Given the description of an element on the screen output the (x, y) to click on. 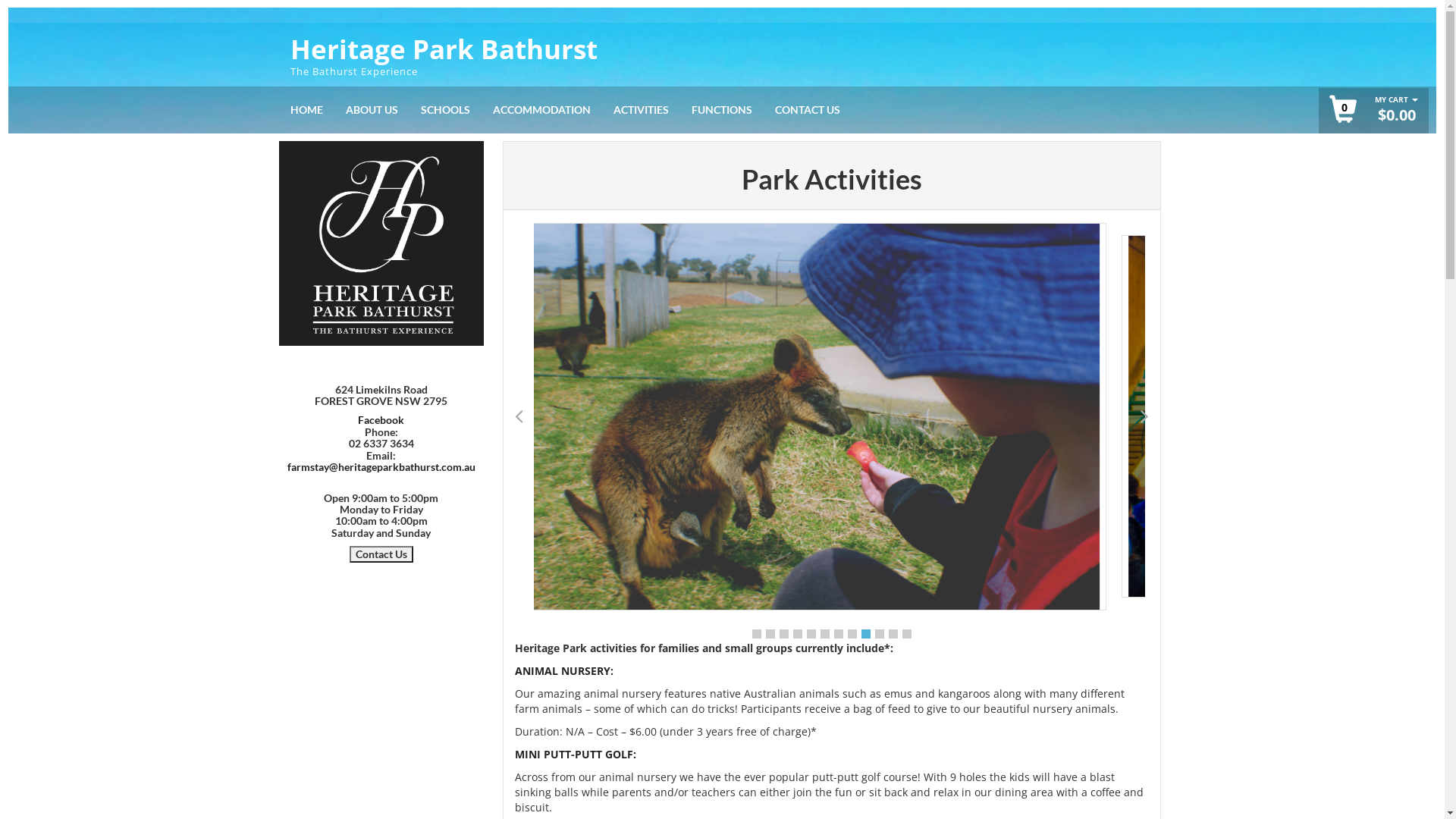
5 Element type: text (810, 633)
ANIMAL NURSERY Element type: text (561, 670)
8 Element type: text (851, 633)
3 Element type: text (783, 633)
12 Element type: text (906, 633)
HOME Element type: text (306, 109)
Heritage Park Bathurst
The Bathurst Experience Element type: text (463, 54)
1 Element type: text (756, 633)
6 Element type: text (824, 633)
CONTACT US Element type: text (806, 109)
Contact Us Element type: text (380, 553)
2 Element type: text (770, 633)
FUNCTIONS Element type: text (720, 109)
9 Element type: text (865, 633)
10 Element type: text (879, 633)
Facebook Element type: text (380, 419)
11 Element type: text (892, 633)
ACTIVITIES Element type: text (641, 109)
SCHOOLS Element type: text (445, 109)
ACCOMMODATION Element type: text (540, 109)
4 Element type: text (797, 633)
7 Element type: text (838, 633)
farmstay@heritageparkbathurst.com.au Element type: text (380, 466)
ABOUT US Element type: text (370, 109)
MINI PUTT-PUTT GOLF: Element type: text (574, 753)
